Given the description of an element on the screen output the (x, y) to click on. 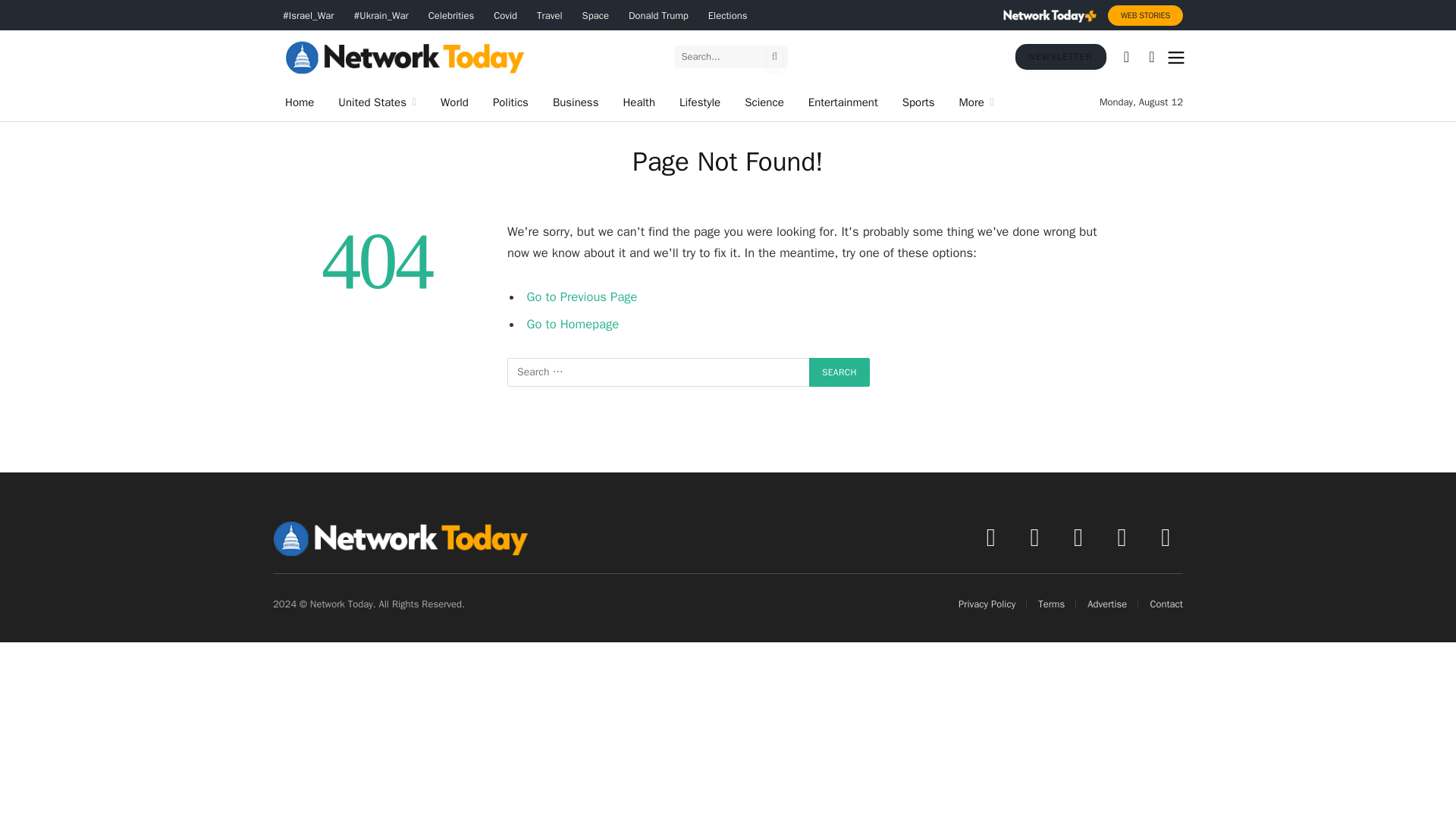
Donald Trump (658, 15)
Travel (549, 15)
NEWSLETTER (1060, 56)
Search (839, 371)
Elections (727, 15)
Space (595, 15)
Network Today (405, 56)
Covid (505, 15)
WEB STORIES (1145, 14)
Search (839, 371)
